Given the description of an element on the screen output the (x, y) to click on. 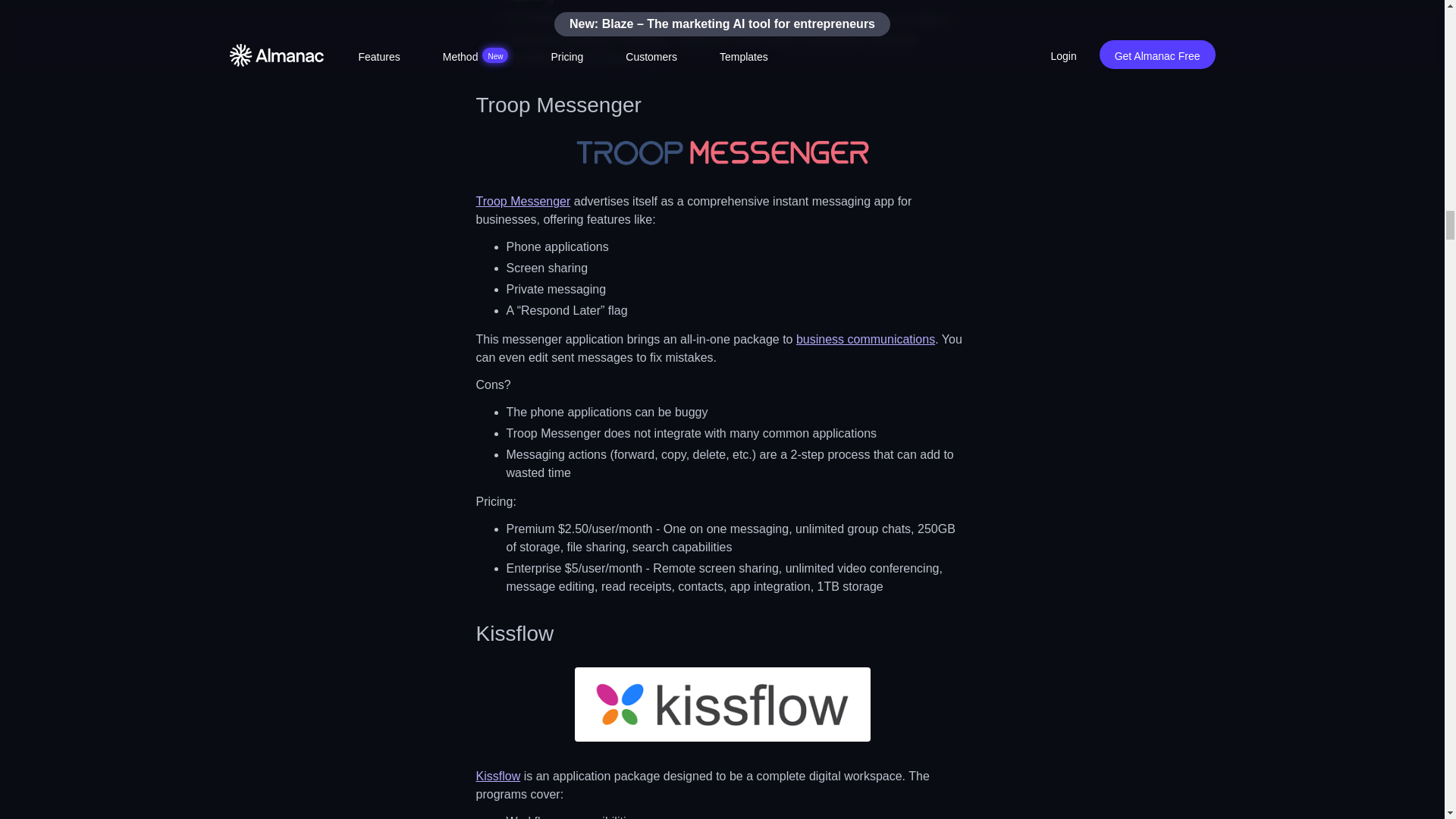
business communications (865, 338)
Kissflow (498, 775)
Troop Messenger (523, 201)
